Given the description of an element on the screen output the (x, y) to click on. 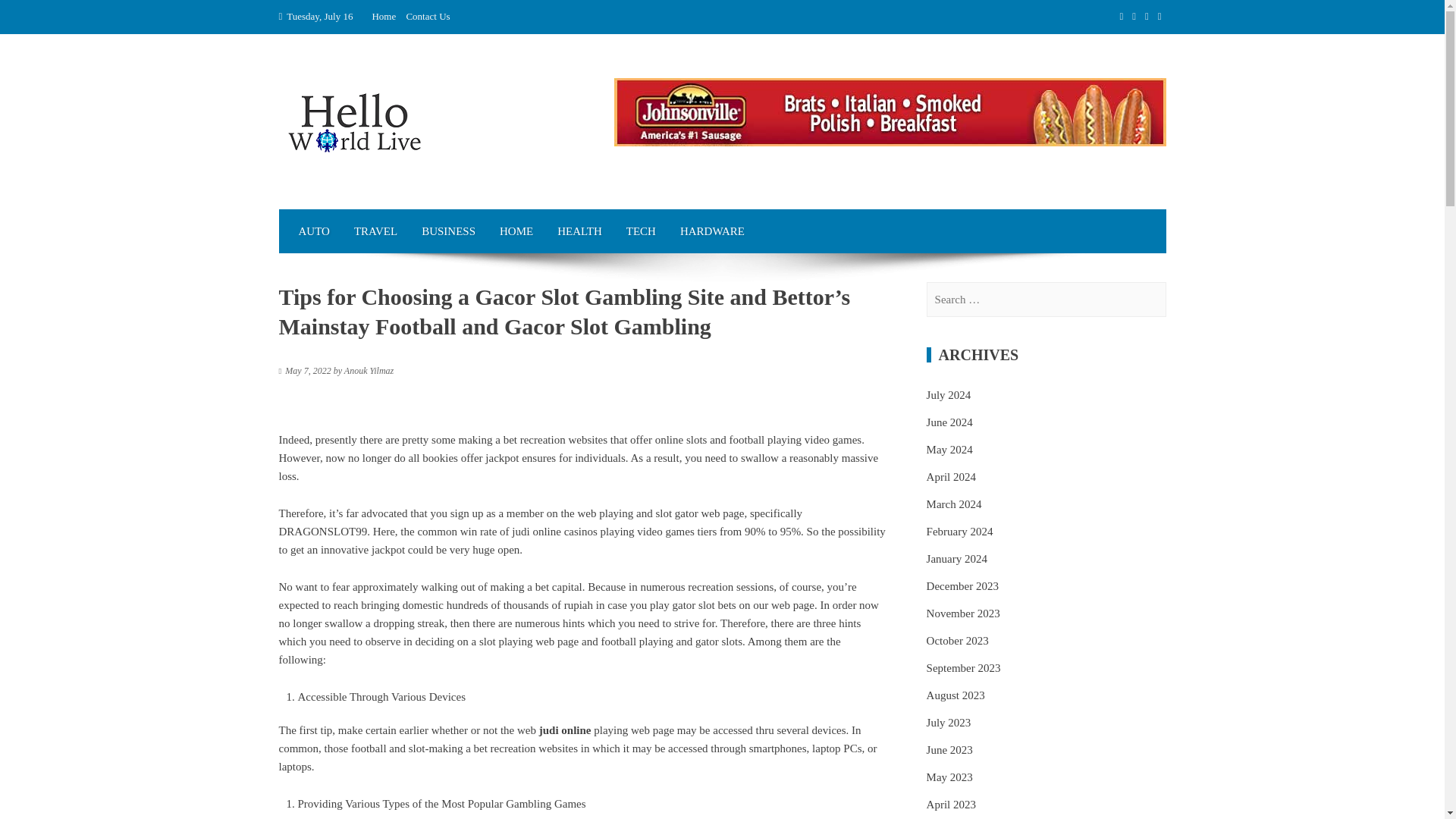
April 2024 (950, 476)
July 2024 (948, 395)
TECH (641, 231)
November 2023 (963, 613)
December 2023 (962, 585)
HARDWARE (712, 231)
May 2023 (949, 776)
June 2023 (949, 749)
TRAVEL (375, 231)
July 2023 (948, 722)
October 2023 (957, 640)
BUSINESS (448, 231)
April 2023 (950, 804)
August 2023 (955, 695)
Search (30, 16)
